Given the description of an element on the screen output the (x, y) to click on. 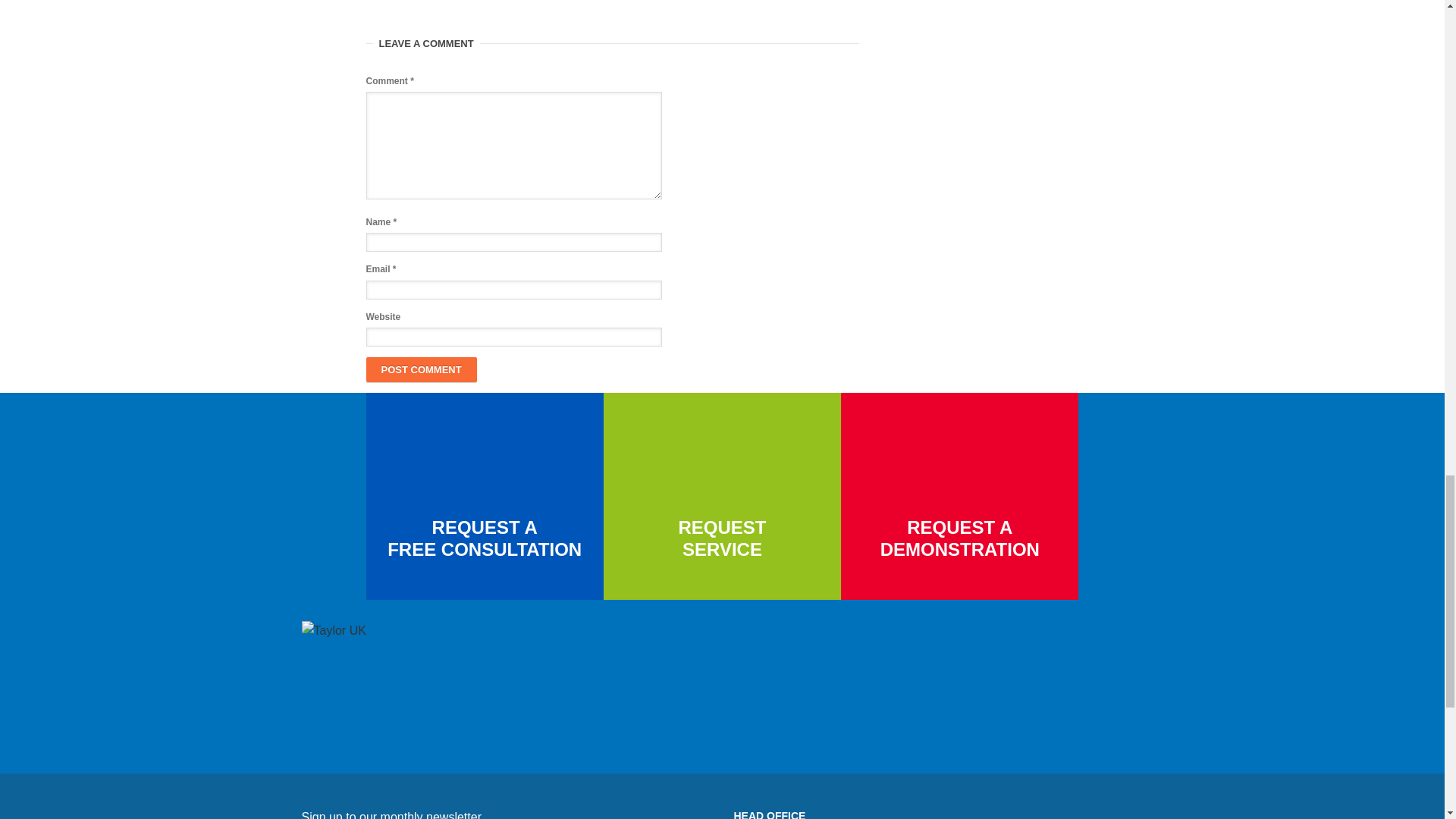
Post Comment (420, 369)
